Given the description of an element on the screen output the (x, y) to click on. 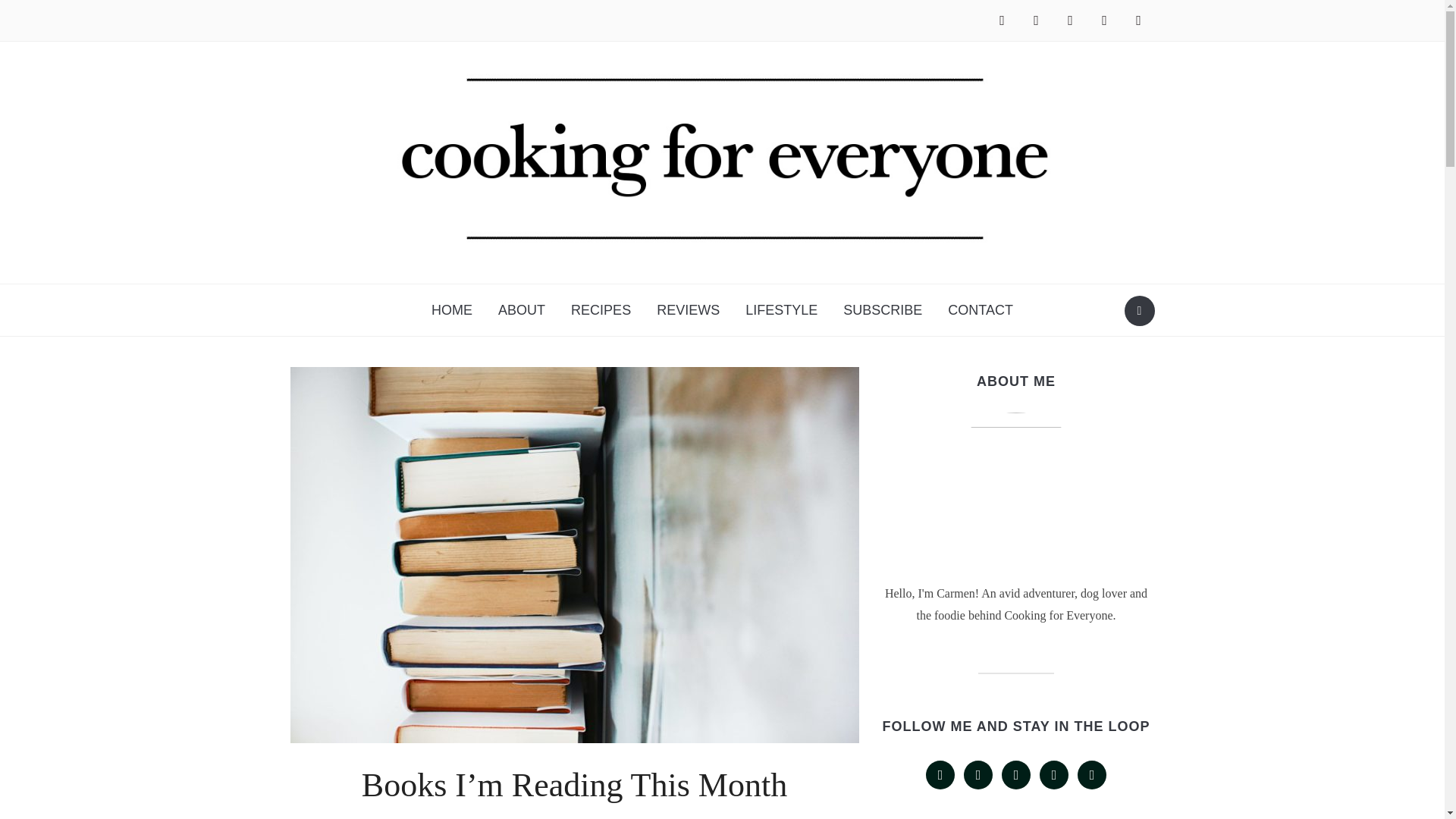
RECIPES (600, 310)
HOME (451, 310)
LIFESTYLE (780, 310)
SUBSCRIBE (882, 310)
Follow Me (1036, 19)
Friend me on Facebook (1001, 19)
twitter (1036, 19)
REVIEWS (687, 310)
mail (1138, 19)
ABOUT (521, 310)
instagram (1070, 19)
linkedin (1105, 19)
Default Label (1105, 19)
facebook (1001, 19)
Search (1139, 310)
